Given the description of an element on the screen output the (x, y) to click on. 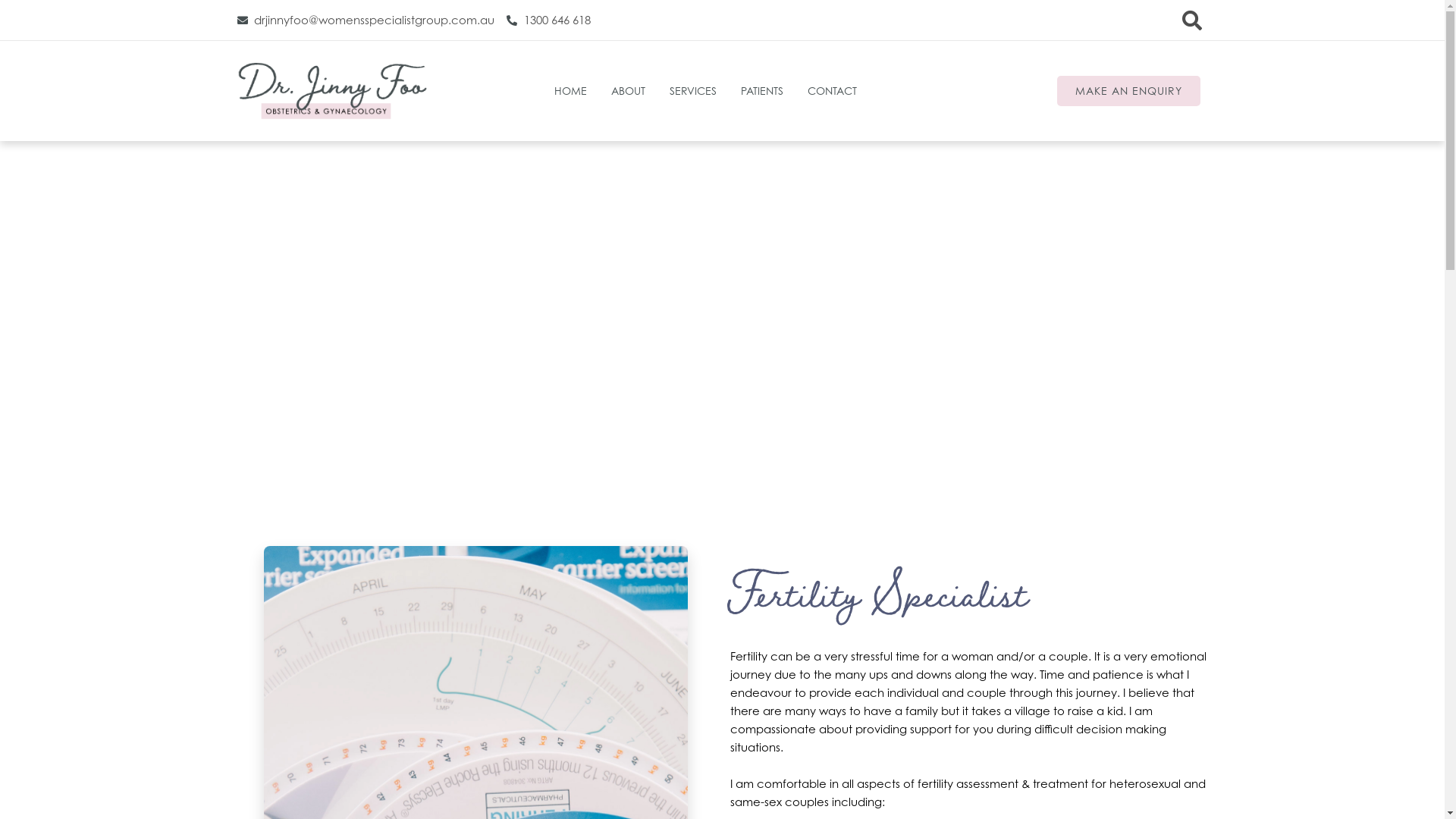
HOME Element type: text (570, 90)
PATIENTS Element type: text (761, 90)
1300 646 618 Element type: text (548, 19)
CONTACT Element type: text (832, 90)
ABOUT Element type: text (628, 90)
MAKE AN ENQUIRY Element type: text (1128, 90)
drjinnyfoo@womensspecialistgroup.com.au Element type: text (365, 19)
SERVICES Element type: text (692, 90)
